Given the description of an element on the screen output the (x, y) to click on. 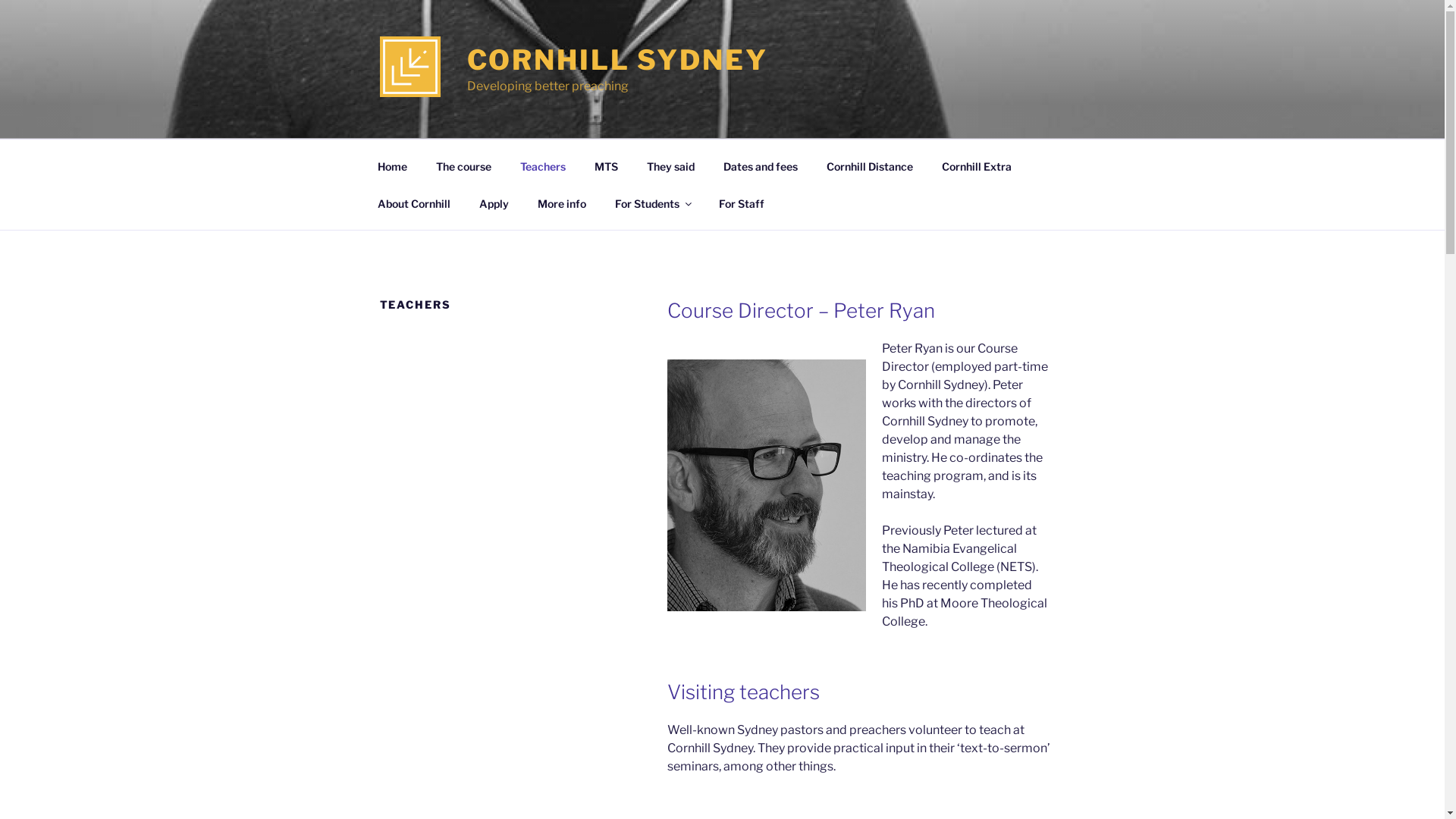
Dates and fees Element type: text (759, 165)
Home Element type: text (392, 165)
MTS Element type: text (605, 165)
Teachers Element type: text (542, 165)
More info Element type: text (561, 203)
They said Element type: text (670, 165)
About Cornhill Element type: text (413, 203)
Apply Element type: text (493, 203)
For Staff Element type: text (741, 203)
For Students Element type: text (652, 203)
The course Element type: text (464, 165)
Cornhill Distance Element type: text (868, 165)
CORNHILL SYDNEY Element type: text (617, 59)
Cornhill Extra Element type: text (976, 165)
